Given the description of an element on the screen output the (x, y) to click on. 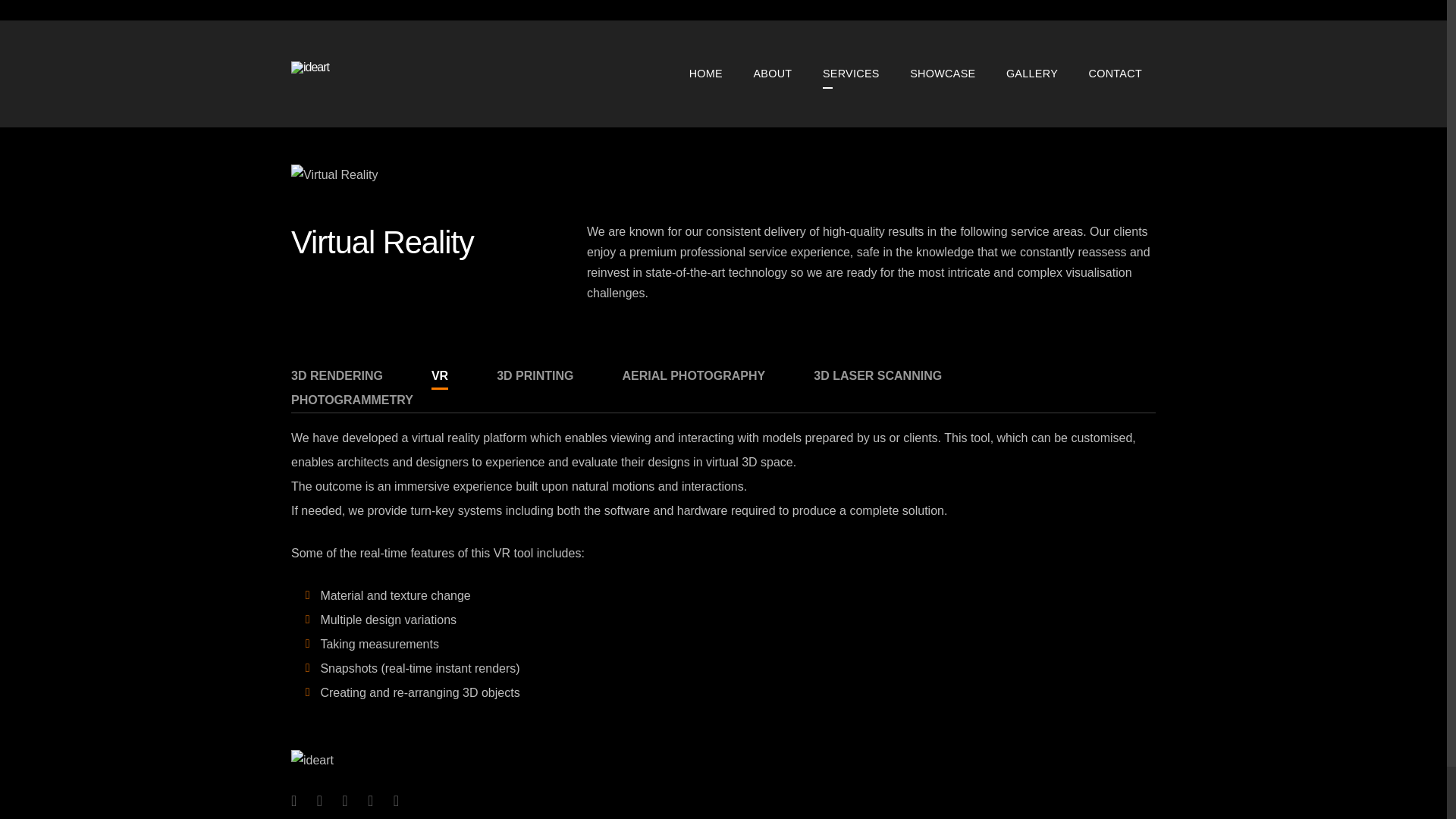
3D LASER SCANNING (877, 375)
HOME (705, 73)
GALLERY (1031, 73)
SHOWCASE (942, 73)
PHOTOGRAMMETRY (352, 400)
ABOUT (772, 73)
3D PRINTING (534, 375)
SERVICES (851, 73)
3D RENDERING (336, 375)
CONTACT (1115, 73)
AERIAL PHOTOGRAPHY (693, 375)
